Given the description of an element on the screen output the (x, y) to click on. 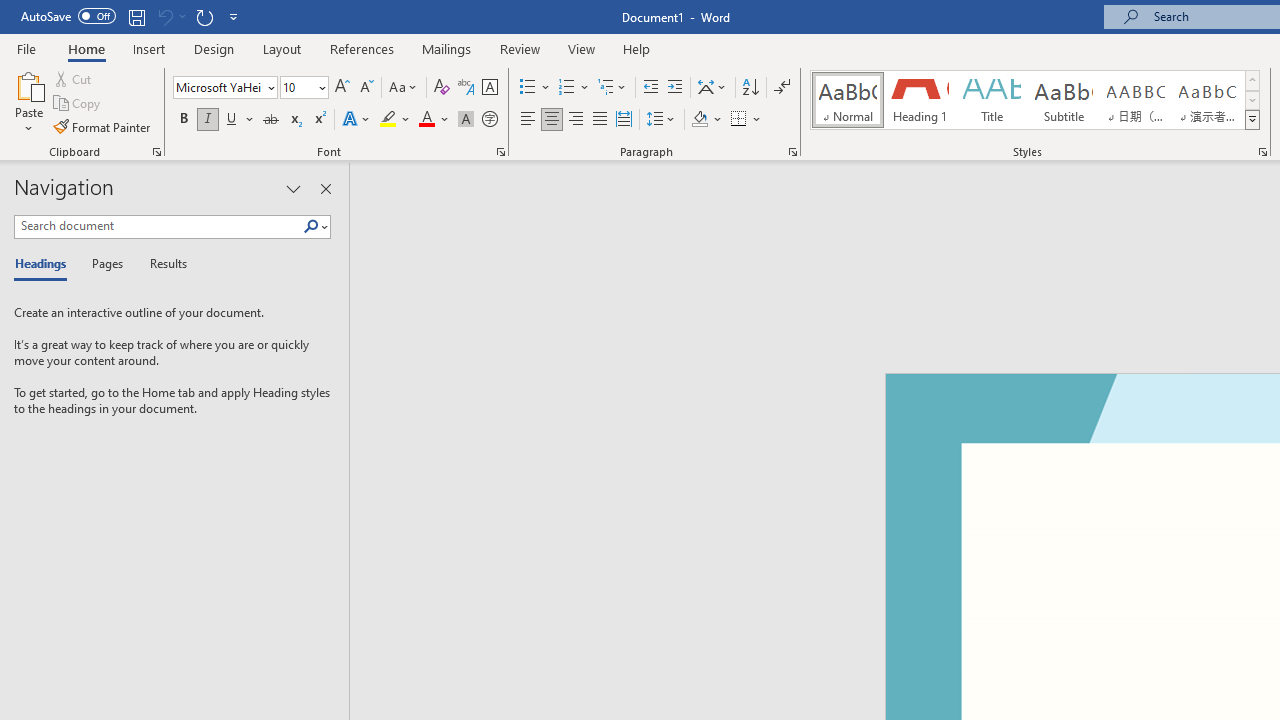
Font Color Red (426, 119)
Can't Undo (164, 15)
